Given the description of an element on the screen output the (x, y) to click on. 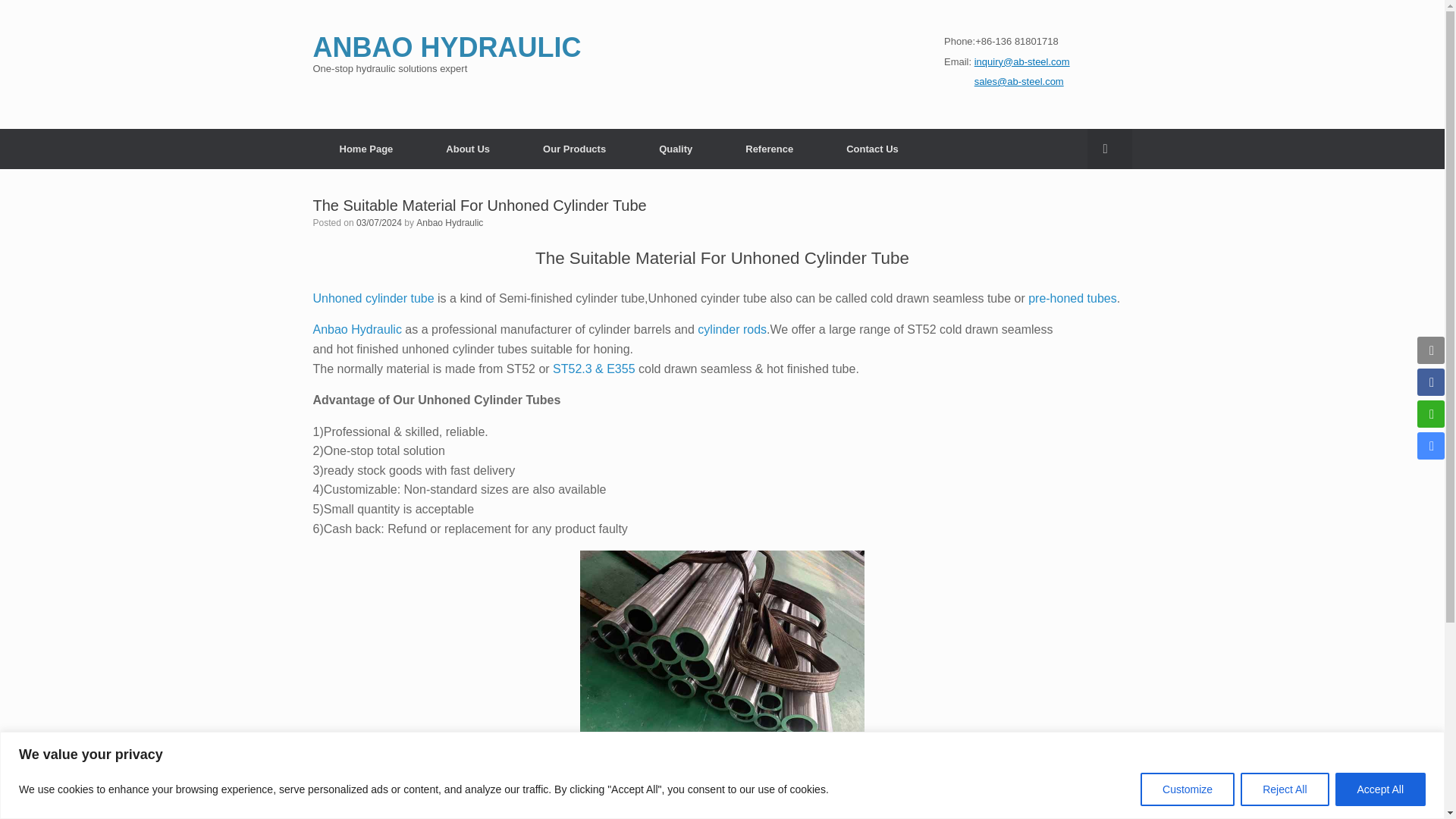
Our Products (573, 148)
Quality (675, 148)
View all posts by Anbao Hydraulic (449, 222)
Home Page (366, 148)
About Us (467, 148)
Reject All (1283, 788)
Accept All (1380, 788)
Customize (1187, 788)
